Given the description of an element on the screen output the (x, y) to click on. 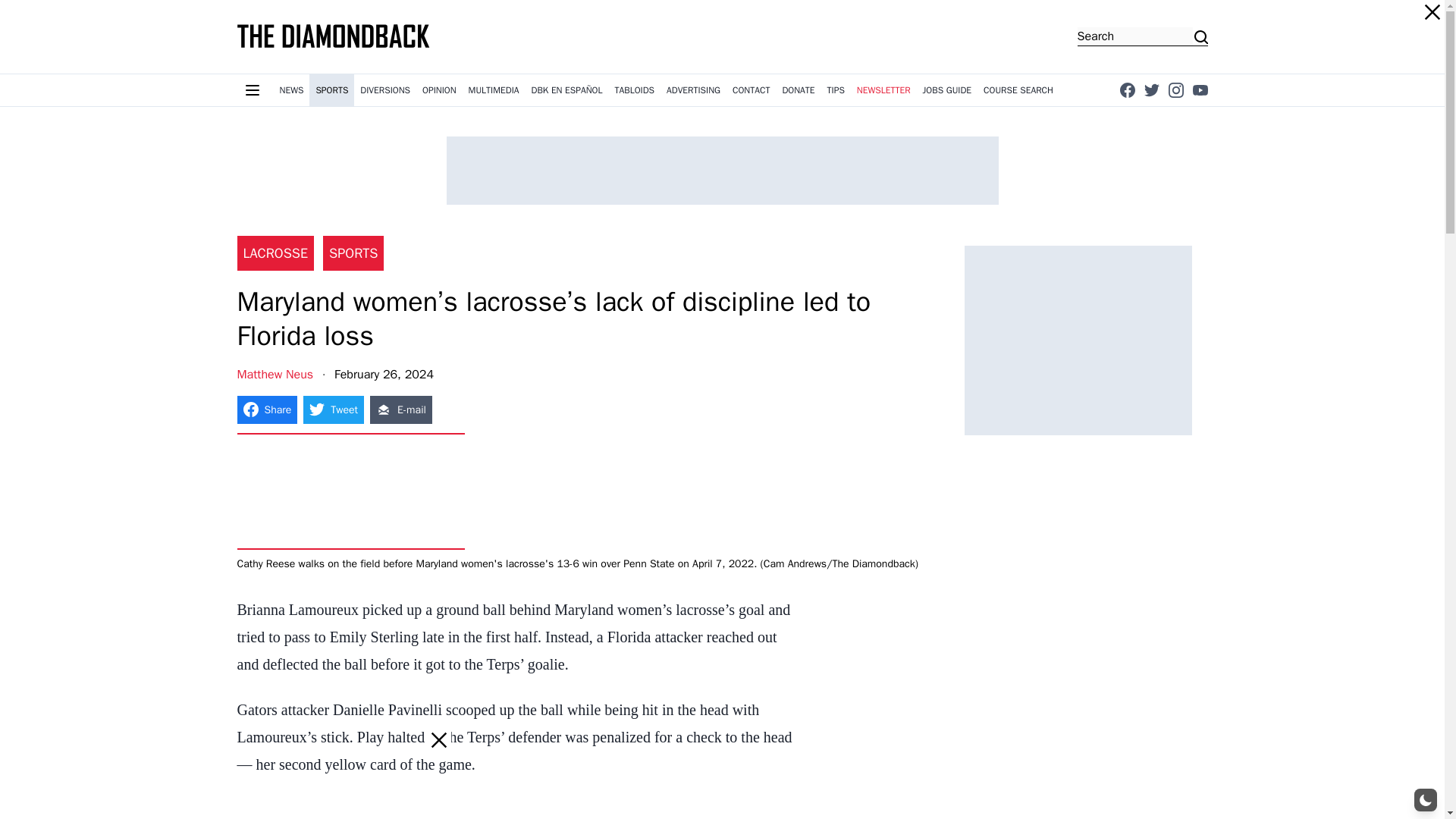
Tabloids (634, 90)
CONTACT (751, 90)
MULTIMEDIA (494, 90)
COURSE SEARCH (1017, 90)
NEWS (290, 90)
OPINION (439, 90)
Course Search (1017, 90)
ADVERTISING (693, 90)
NEWSLETTER (883, 90)
SPORTS (330, 90)
